Given the description of an element on the screen output the (x, y) to click on. 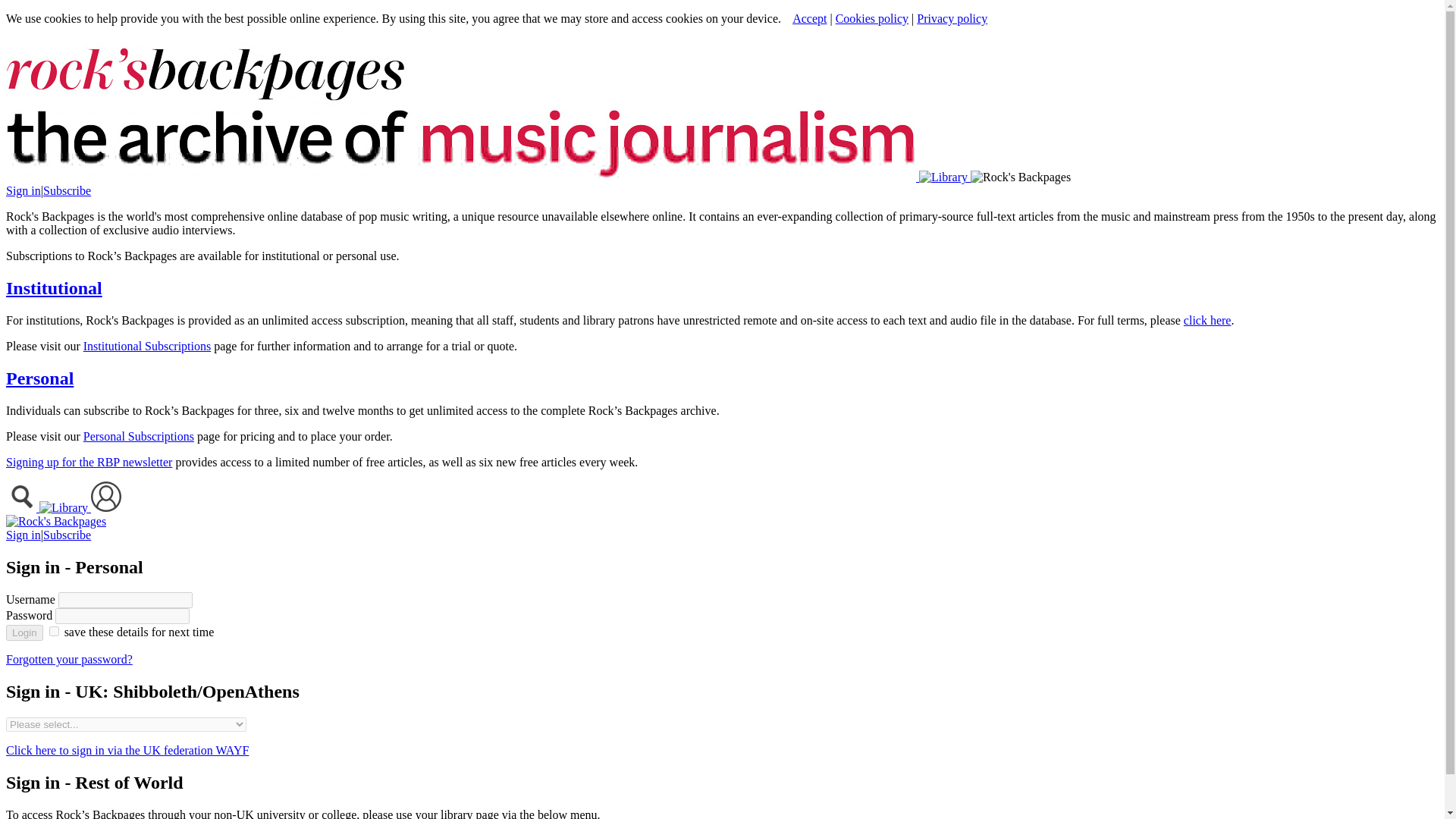
Your Account (105, 507)
Personal Subscriptions (137, 436)
Privacy policy (952, 18)
Sign in (22, 534)
Login (24, 632)
Institutional Subscriptions (146, 345)
Subscribe (66, 534)
Cookies policy (871, 18)
Sign in (22, 190)
Accept (809, 18)
